Given the description of an element on the screen output the (x, y) to click on. 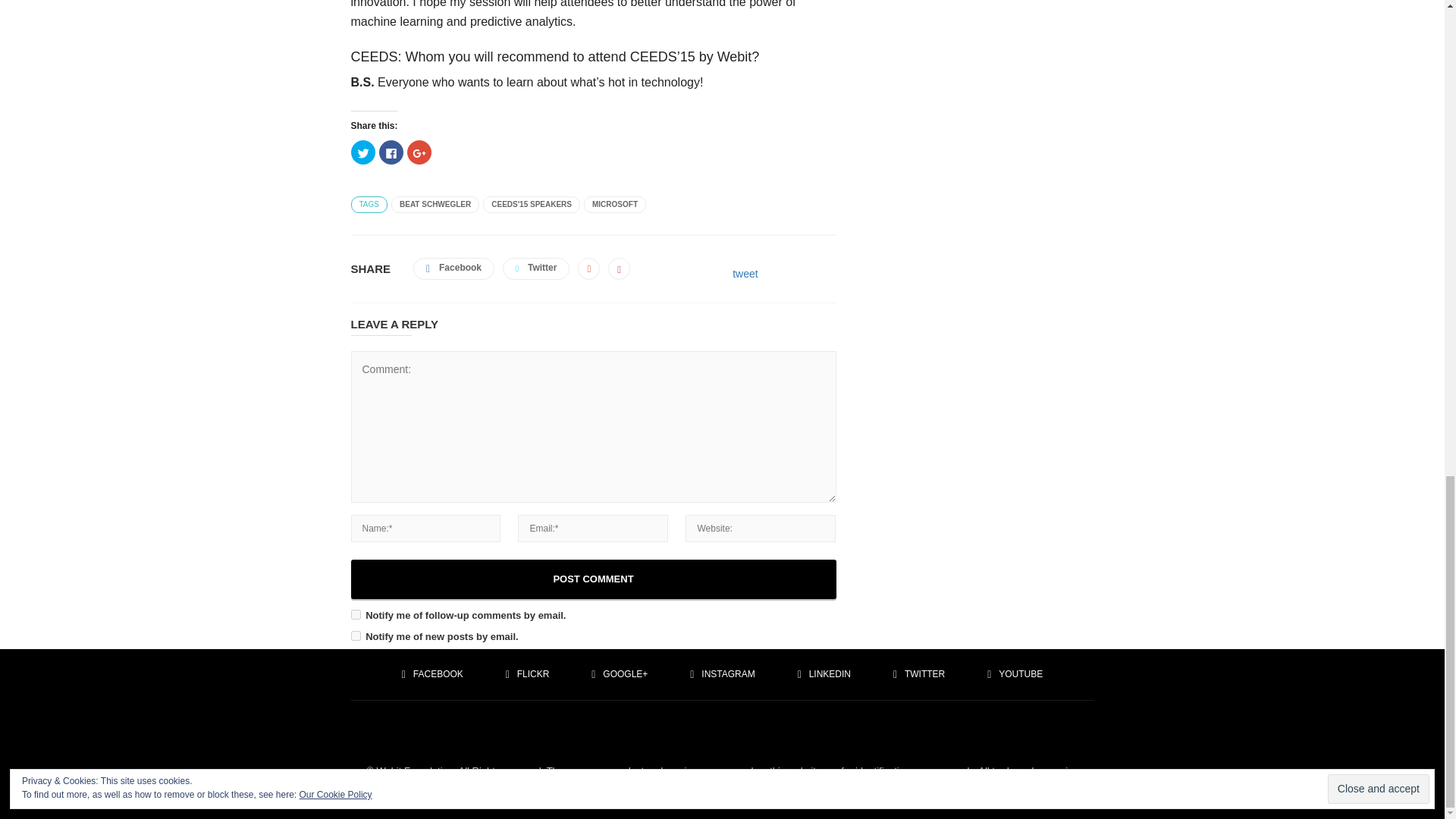
Click to share on Twitter (362, 152)
subscribe (354, 635)
Facebook (432, 673)
CEEDS'15 SPEAKERS (531, 204)
MICROSOFT (614, 204)
Flickr (527, 673)
subscribe (354, 614)
Click to share on Facebook (390, 152)
Post Comment (592, 578)
BEAT SCHWEGLER (435, 204)
